Given the description of an element on the screen output the (x, y) to click on. 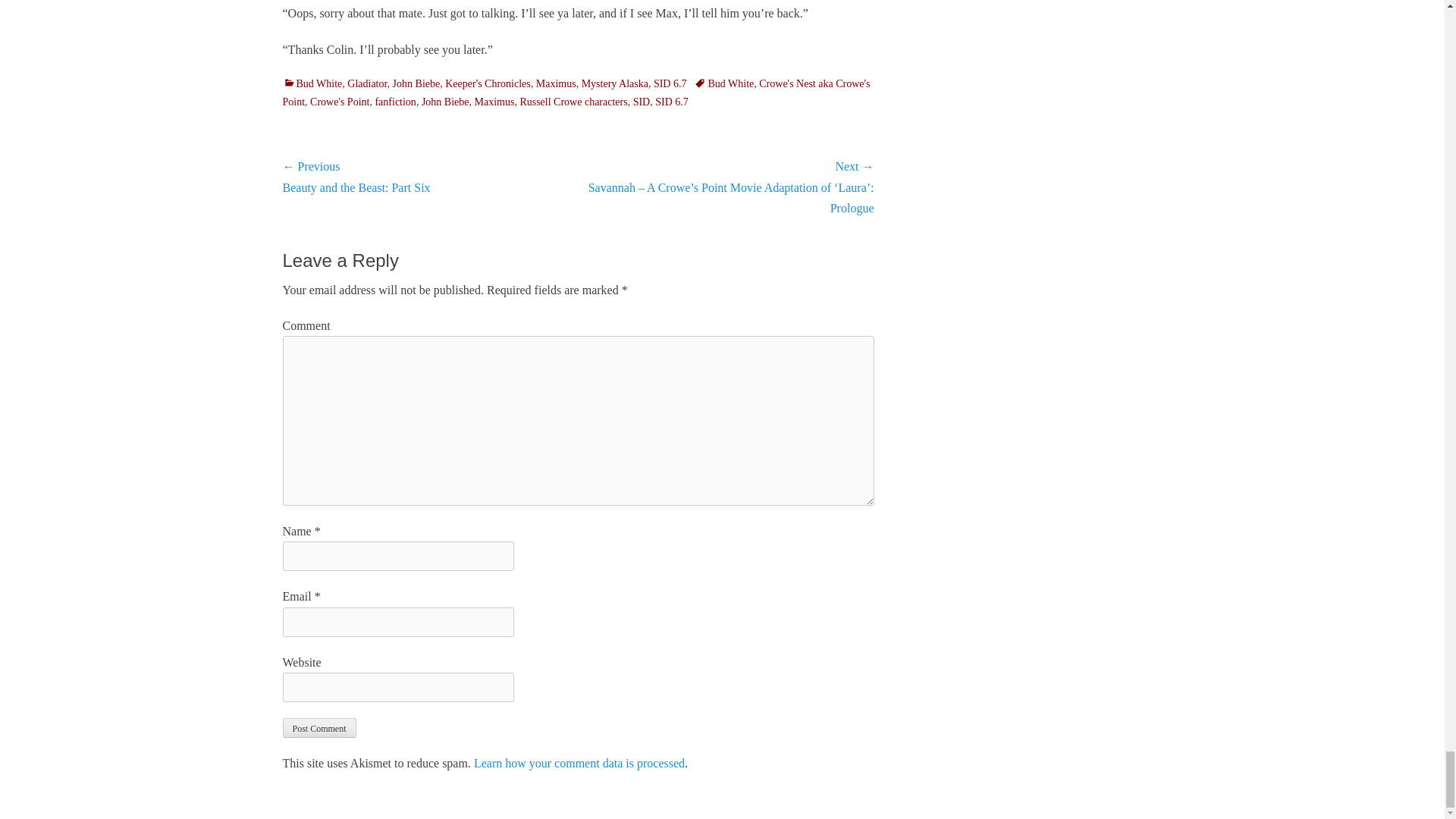
Post Comment (318, 727)
